Given the description of an element on the screen output the (x, y) to click on. 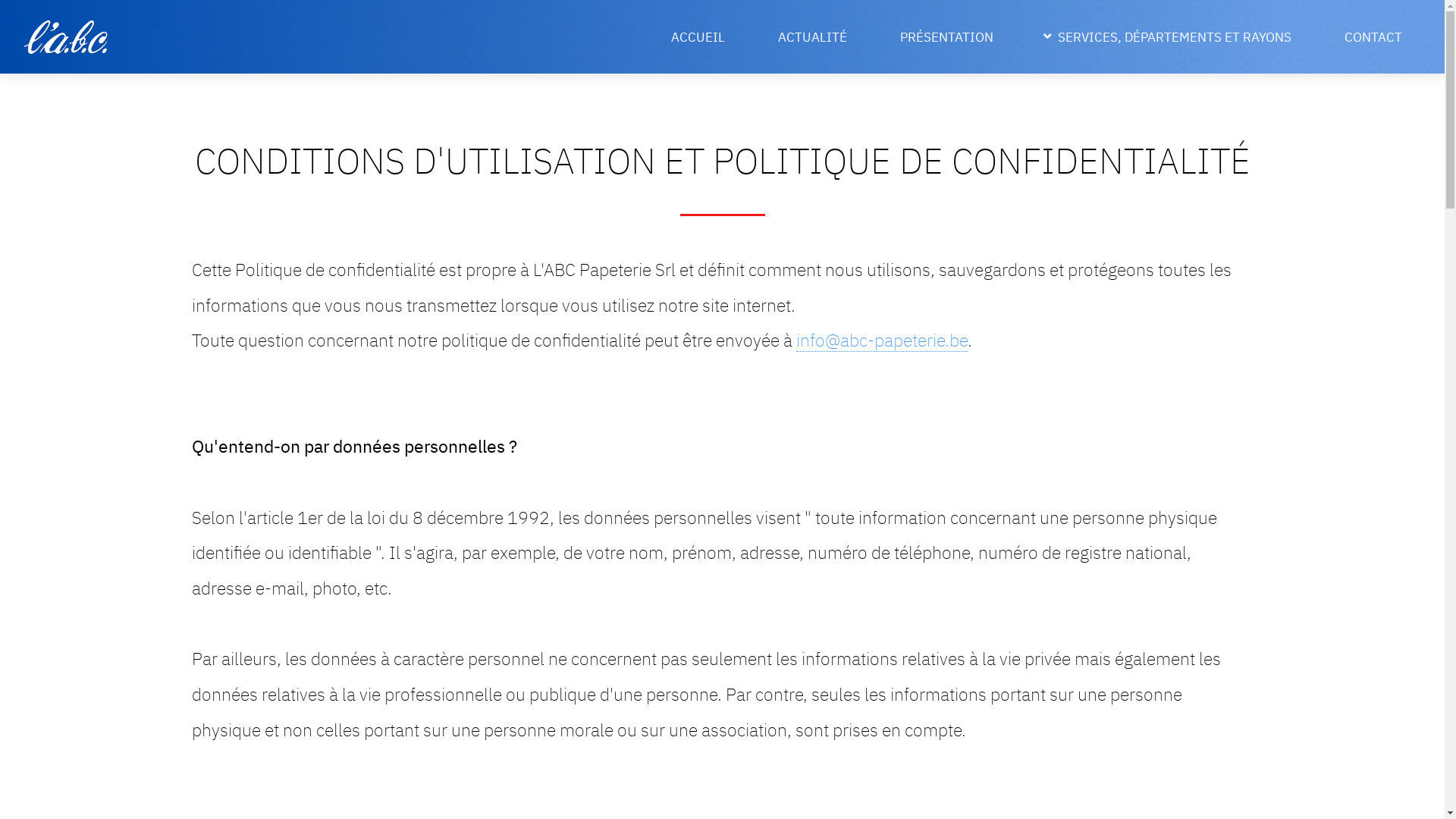
info@abc-papeterie.be Element type: text (881, 339)
ACCUEIL Element type: text (697, 36)
CONTACT Element type: text (1373, 36)
